Given the description of an element on the screen output the (x, y) to click on. 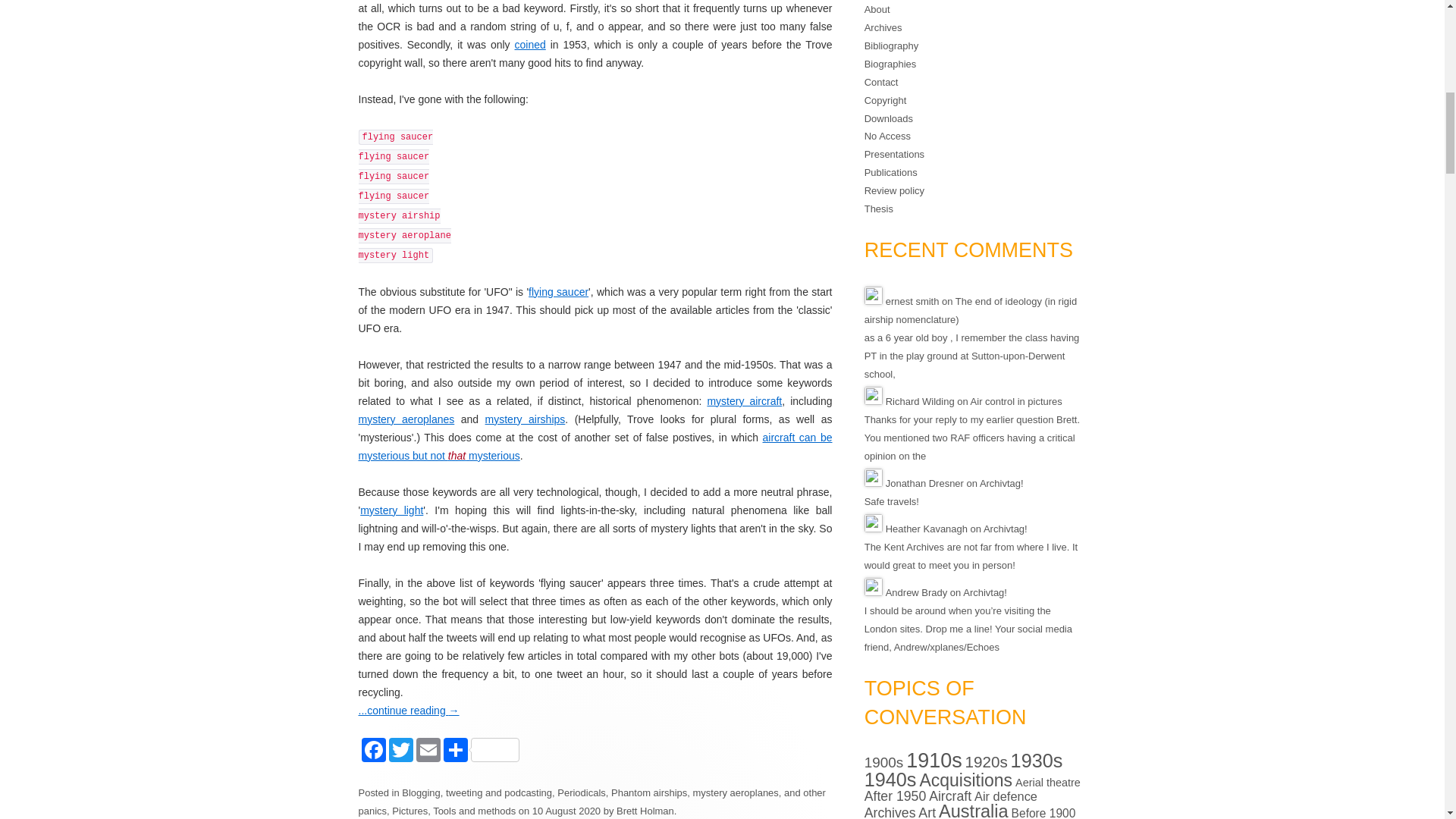
aircraft can be mysterious but not that mysterious (594, 446)
Periodicals (581, 792)
Twitter (398, 751)
Email (425, 751)
mystery airships (525, 419)
2:20 pm (565, 810)
Brett Holman (644, 810)
coined (528, 44)
Phantom airships, mystery aeroplanes, and other panics (591, 801)
Tools and methods (473, 810)
flying saucer (558, 291)
mystery aeroplanes (406, 419)
Facebook (371, 751)
mystery aircraft (743, 400)
Facebook (371, 751)
